Given the description of an element on the screen output the (x, y) to click on. 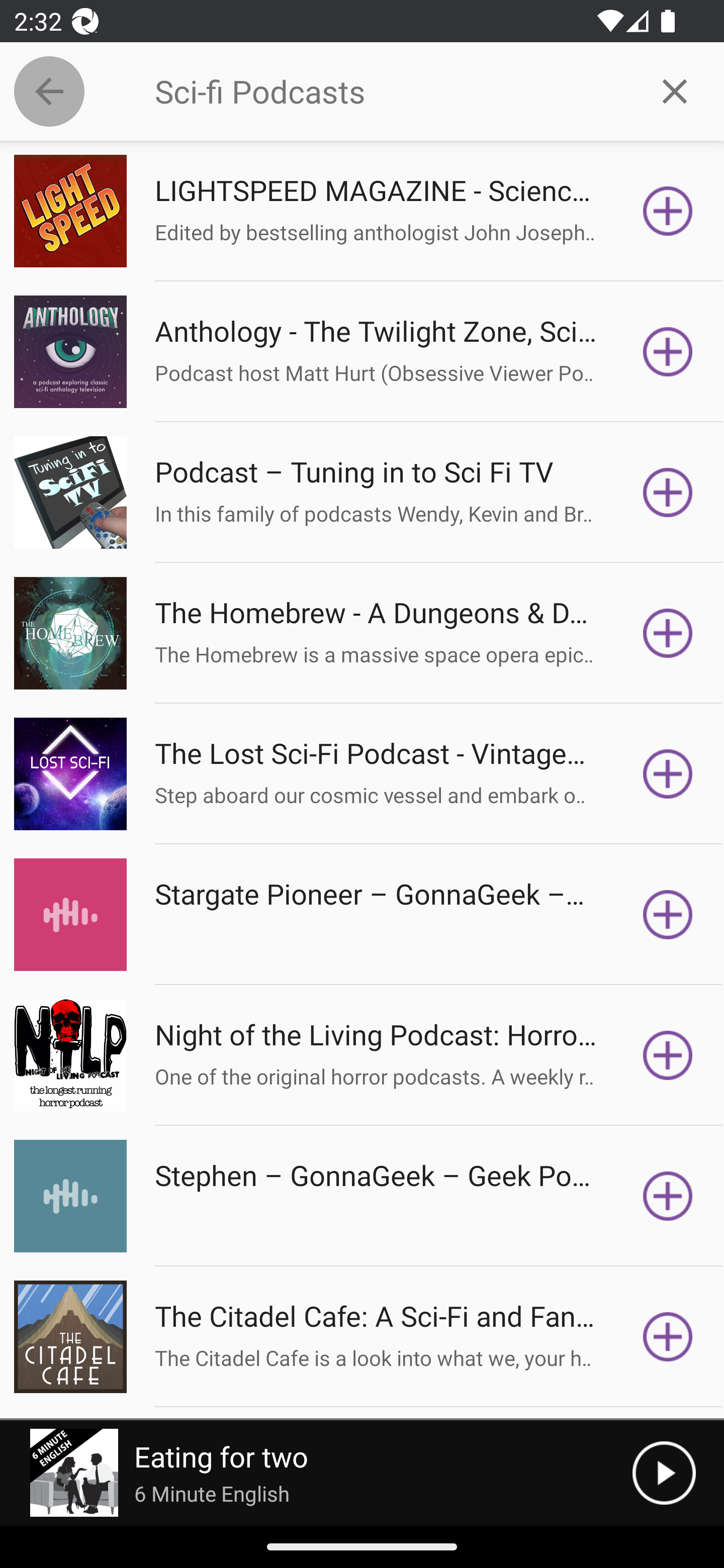
Collapse (49, 91)
Clear query (674, 90)
Sci-fi Podcasts (389, 91)
Subscribe (667, 211)
Subscribe (667, 350)
Subscribe (667, 491)
Subscribe (667, 633)
Subscribe (667, 773)
Subscribe (667, 913)
Subscribe (667, 1054)
Subscribe (667, 1195)
Subscribe (667, 1336)
Picture Eating for two 6 Minute English (316, 1472)
Play (663, 1472)
